Given the description of an element on the screen output the (x, y) to click on. 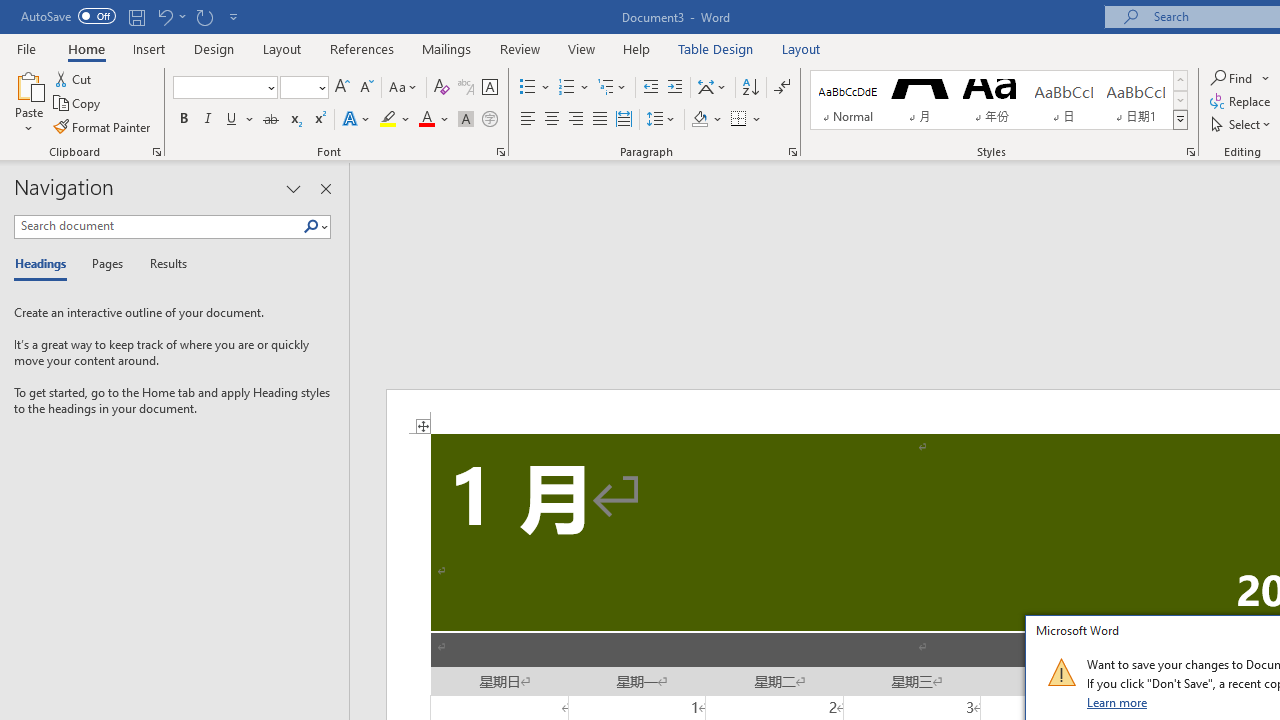
Learn more (1118, 702)
